Given the description of an element on the screen output the (x, y) to click on. 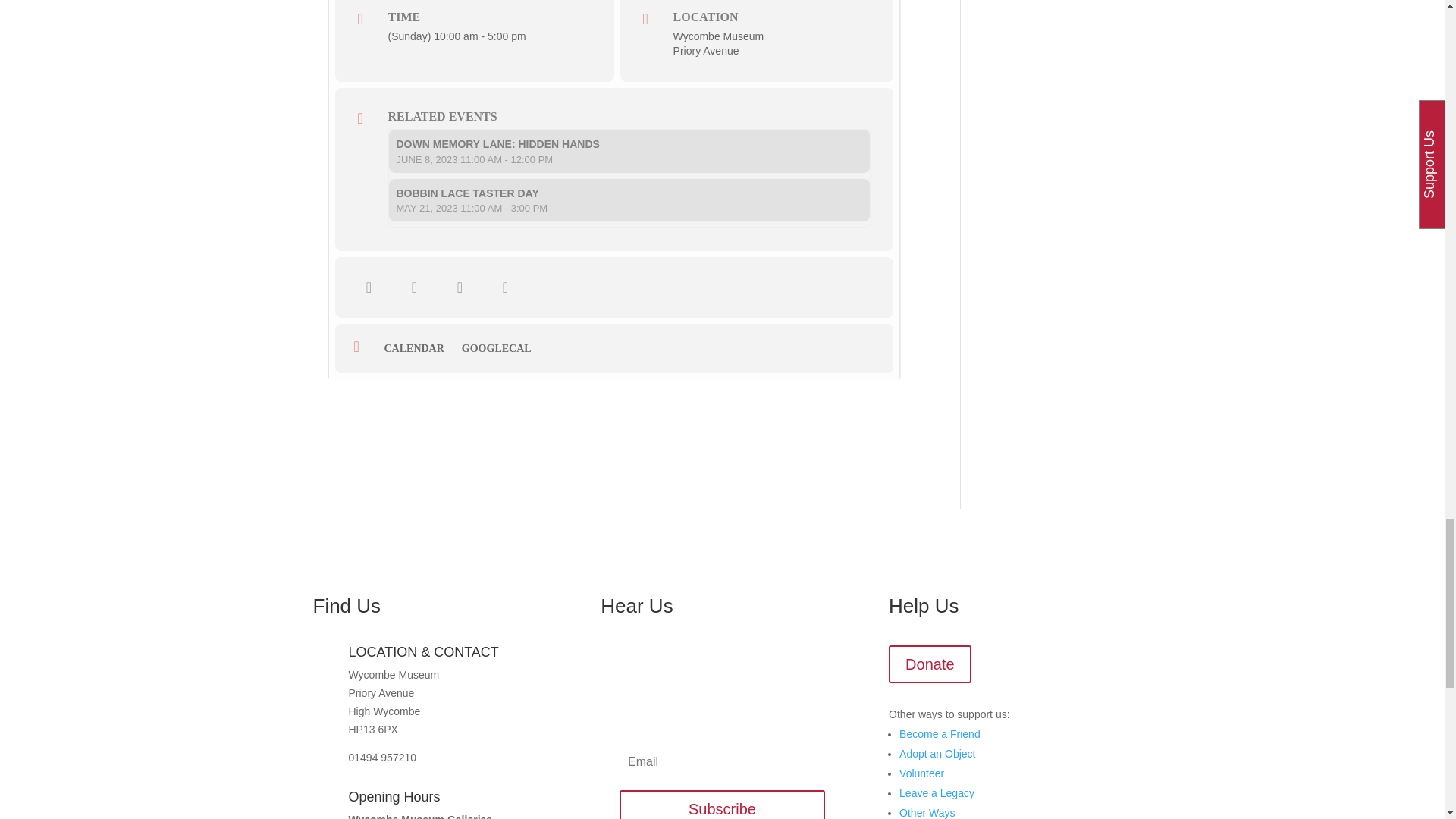
Share on facebook (369, 287)
Share on Twitter (414, 287)
Add to your calendar (419, 348)
Share on Linkedin (460, 287)
Add to google calendar (502, 348)
